Given the description of an element on the screen output the (x, y) to click on. 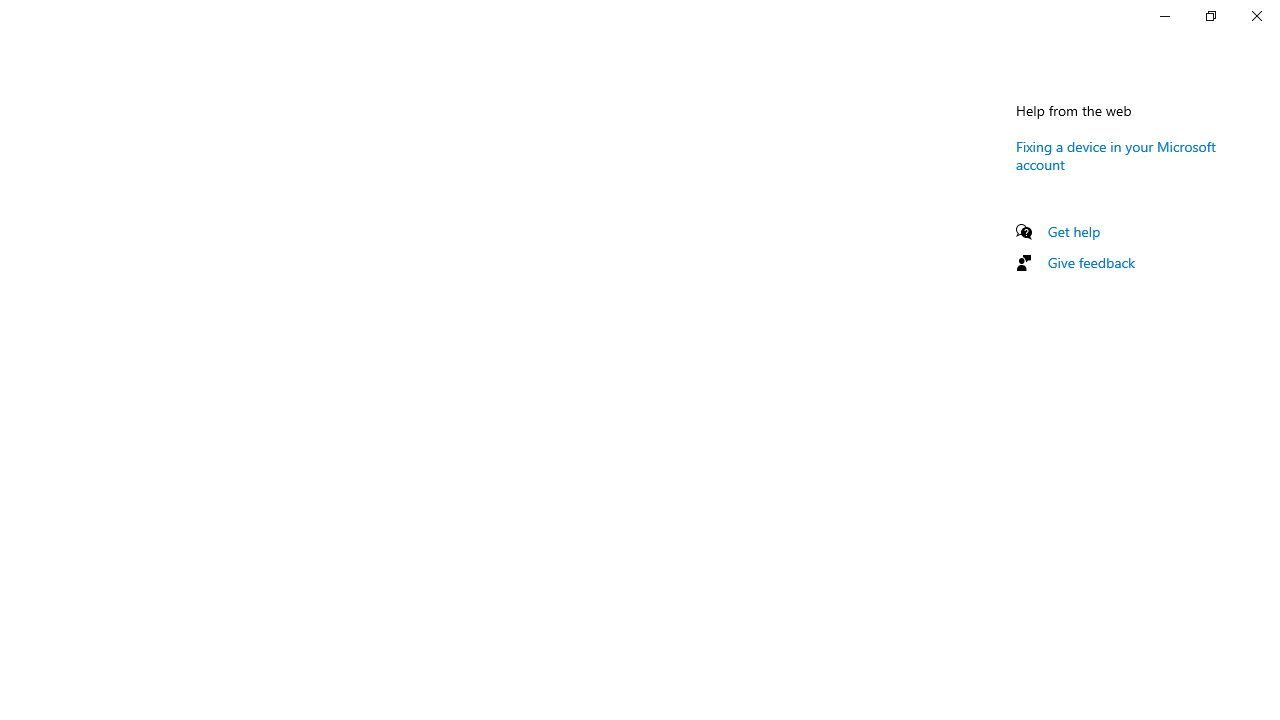
Restore Settings (1210, 15)
Fixing a device in your Microsoft account (1116, 155)
Get help (1074, 231)
Give feedback (1091, 262)
Close Settings (1256, 15)
Minimize Settings (1164, 15)
